Given the description of an element on the screen output the (x, y) to click on. 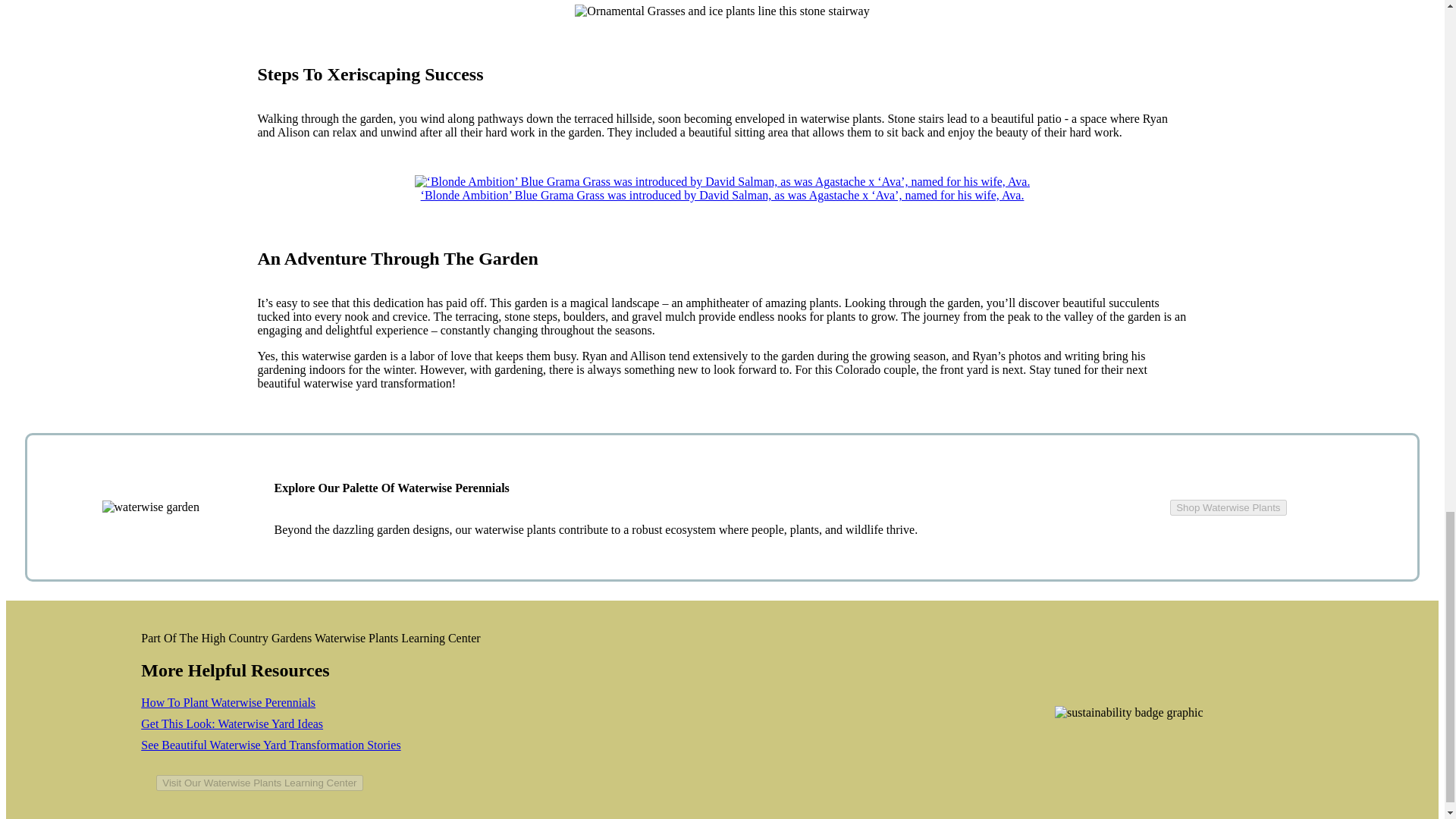
How To Plant Waterwise Perennials (228, 702)
Visit Our Waterwise Plants Learning Center (258, 782)
Shop Waterwise Plants (1227, 507)
See Beautiful Waterwise Yard Transformation Stories (270, 744)
Get This Look: Waterwise Yard Ideas (232, 723)
